Given the description of an element on the screen output the (x, y) to click on. 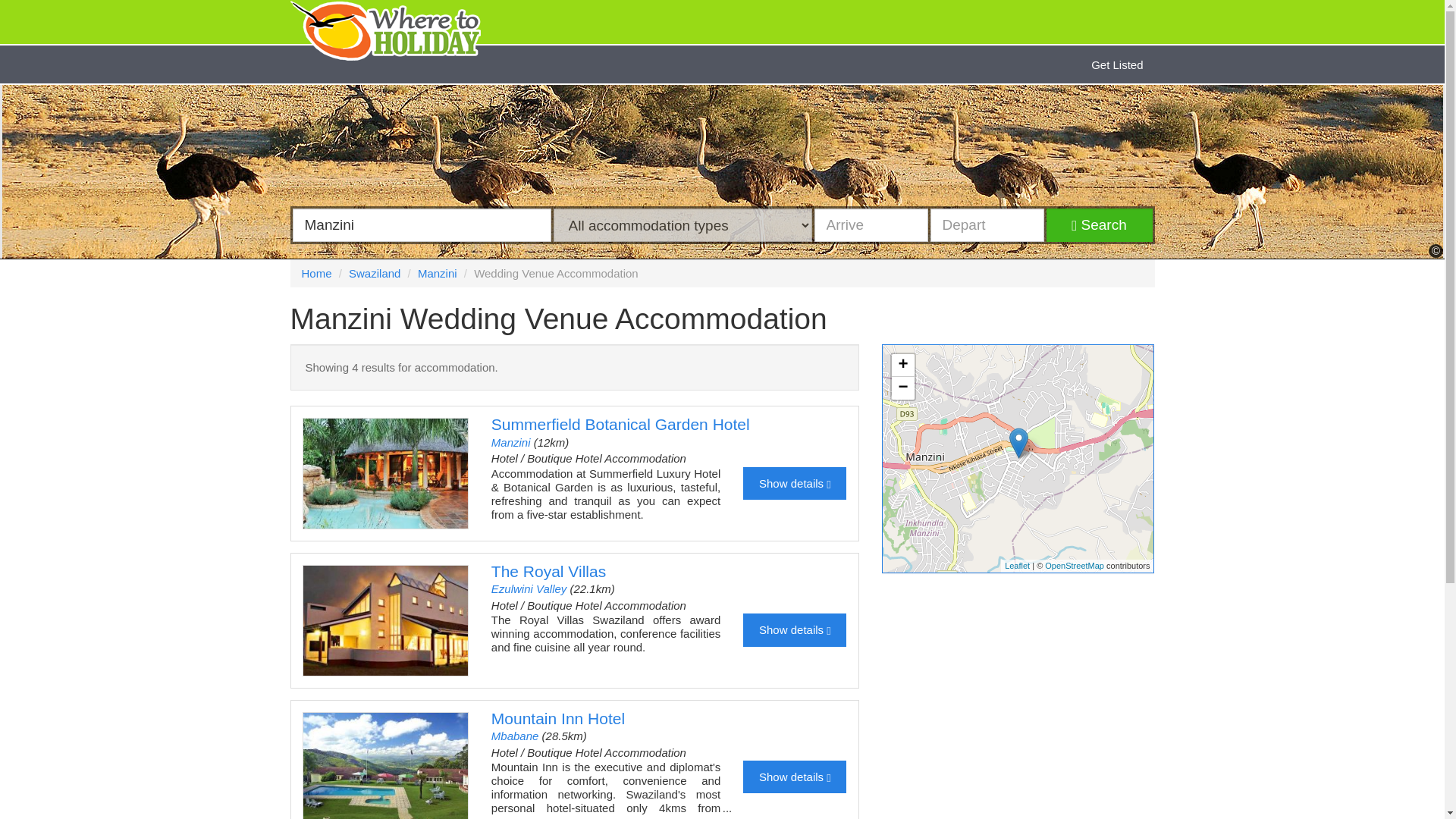
Ezulwini Valley Accommodation (529, 588)
Zoom out (902, 387)
Leaflet (1016, 565)
A JS library for interactive maps (1016, 565)
Summerfield Botanical Garden Hotel (620, 424)
Manzini Accommodation (511, 441)
Get Listed (1117, 64)
Show details (793, 482)
Mbabane Accommodation (515, 735)
Show details (793, 776)
Swaziland (374, 273)
Manzini (437, 273)
Mountain Inn Hotel (558, 718)
Show details (793, 629)
Manzini (511, 441)
